Given the description of an element on the screen output the (x, y) to click on. 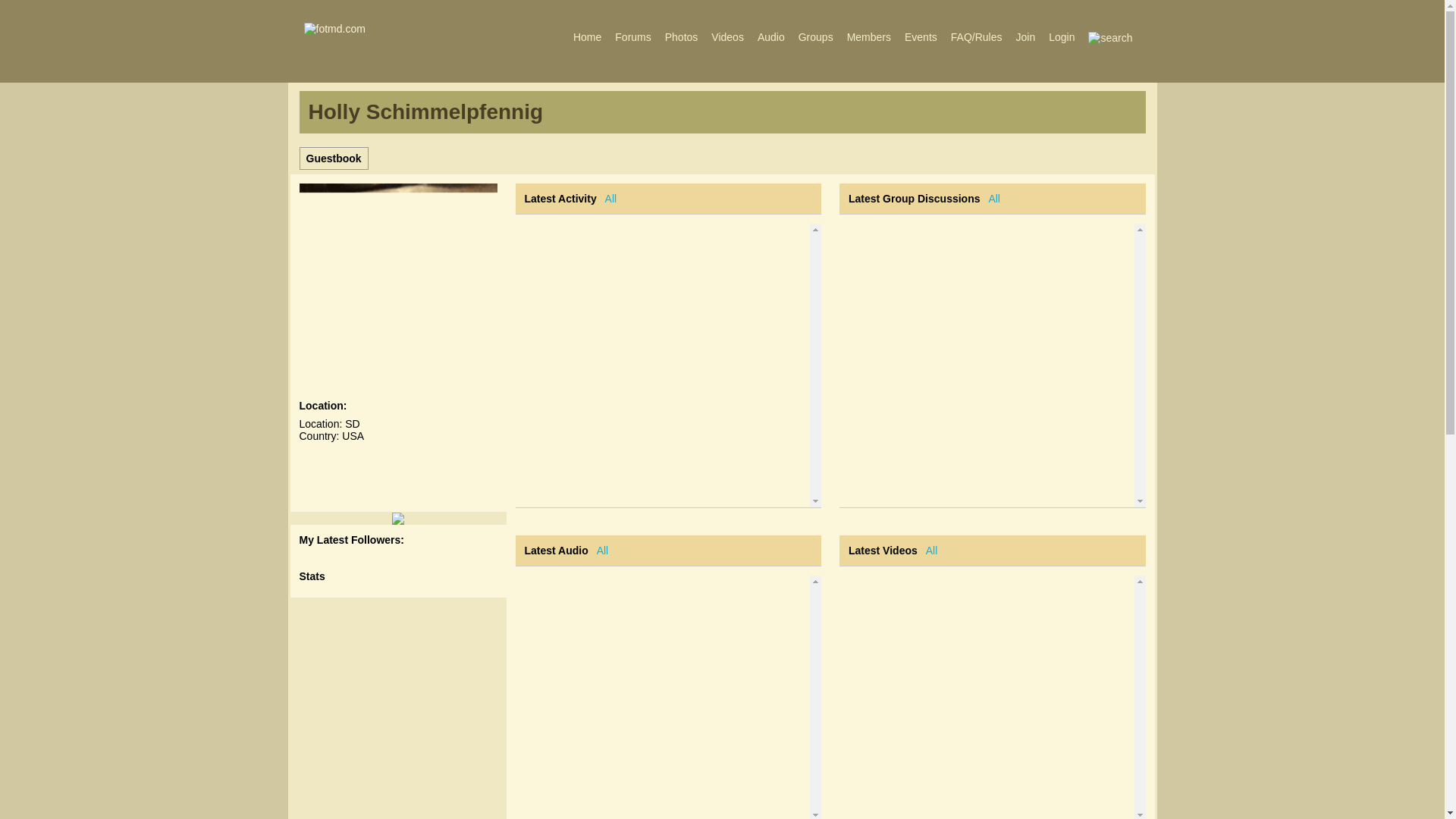
search (1109, 37)
Members (869, 36)
Home (587, 36)
Holly Schimmelpfennig (425, 114)
Forums (633, 36)
Groups (816, 36)
Events (920, 36)
Guestbook (333, 158)
Join (1025, 36)
Login (1061, 36)
